Given the description of an element on the screen output the (x, y) to click on. 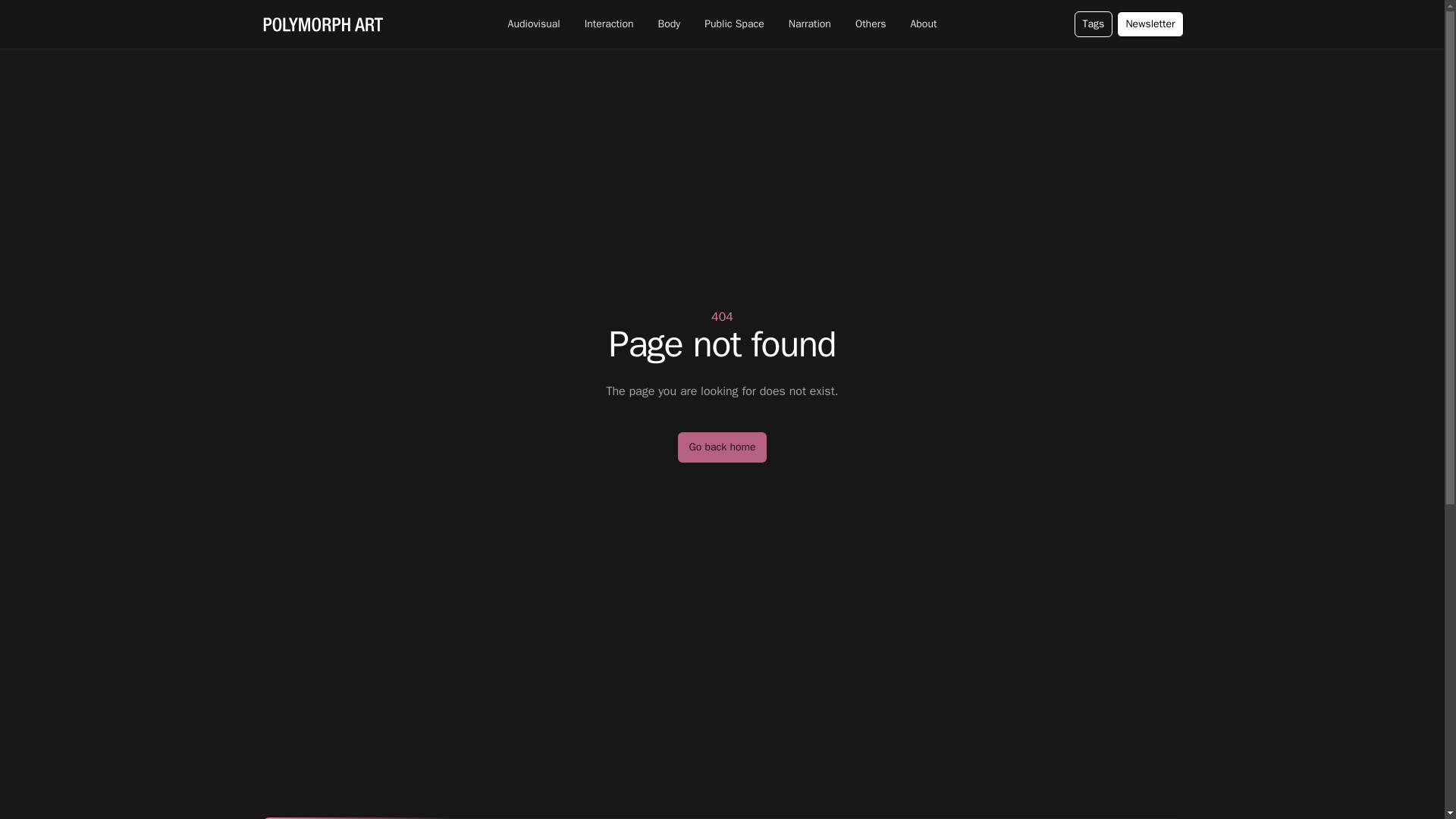
Tags (1093, 23)
About (923, 24)
Narration (810, 24)
Interaction (609, 24)
Go back home (721, 447)
Public Space (734, 24)
Newsletter (1149, 23)
Others (871, 24)
Audiovisual (534, 24)
Body (669, 24)
